Given the description of an element on the screen output the (x, y) to click on. 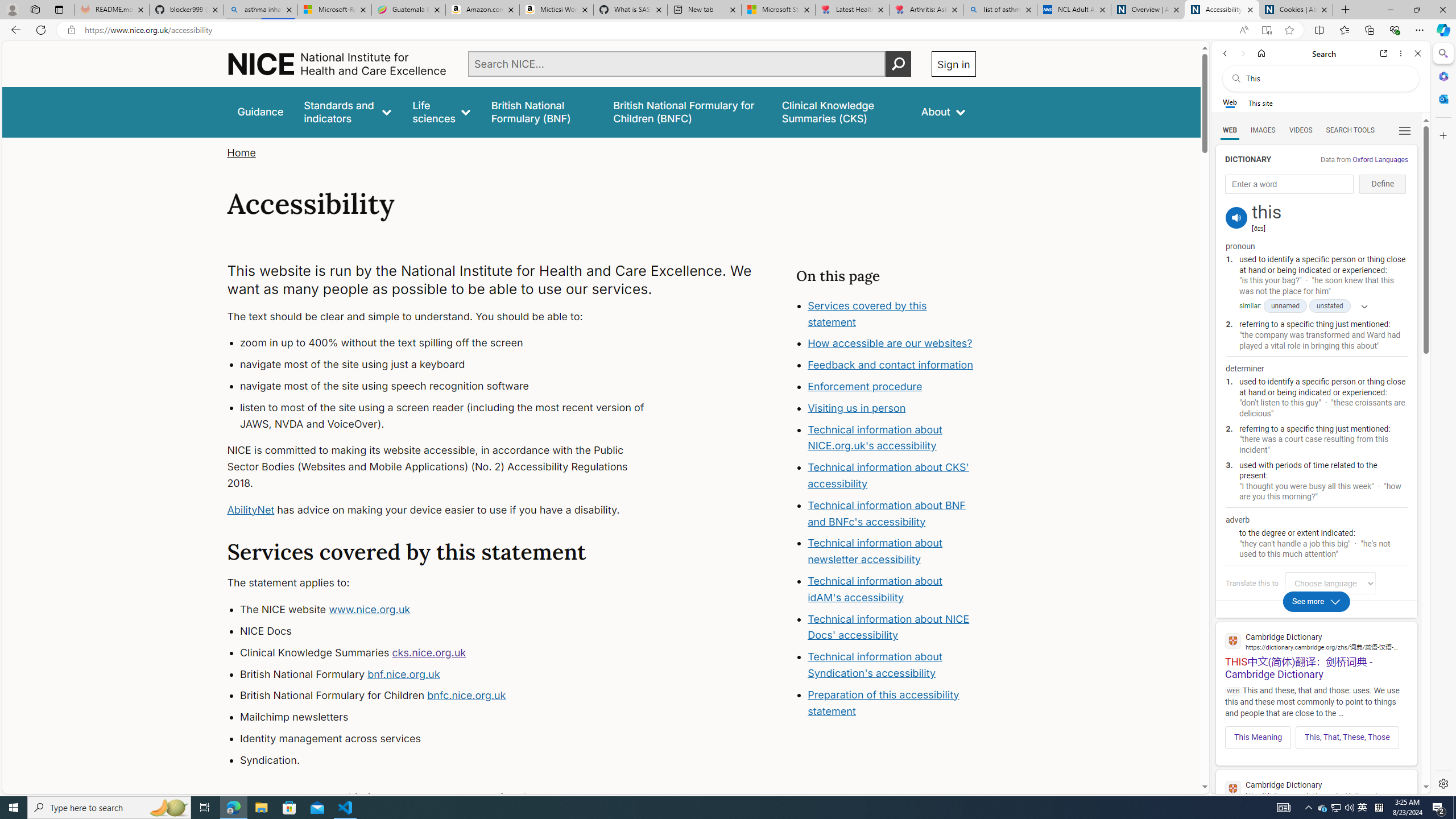
Preparation of this accessibility statement (891, 702)
Technical information about NICE.org.uk's accessibility (875, 437)
Close Customize pane (1442, 135)
Forward (1242, 53)
Feedback and contact information (891, 364)
Feedback and contact information (891, 365)
WEB   (1230, 130)
This site scope (1259, 102)
Arthritis: Ask Health Professionals (925, 9)
Search Filter, Search Tools (1350, 129)
